Given the description of an element on the screen output the (x, y) to click on. 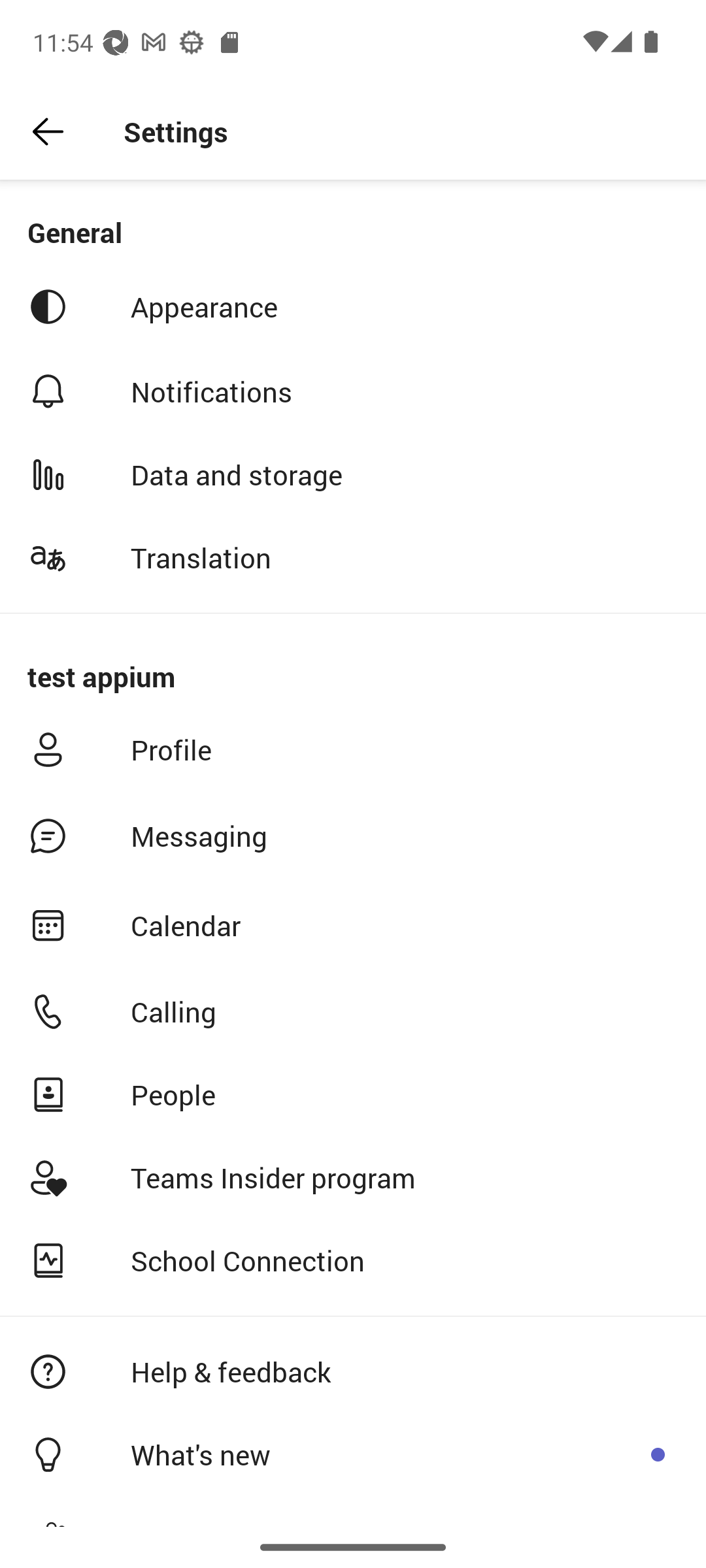
Back (48, 131)
Appearance Theme icon Appearance (353, 306)
Notifications Notifications icon Notifications (353, 390)
Translation Translation icon Translation (353, 556)
Profile Profile icon Profile (353, 749)
Messaging Messaging icon Messaging (353, 836)
Calendar Calendar icon Calendar (353, 925)
Calling Calls icon Calling (353, 1011)
People Contacts icon People (353, 1094)
Help & feedback Help icon Help & feedback (353, 1370)
What's new icon What's new (353, 1453)
